Given the description of an element on the screen output the (x, y) to click on. 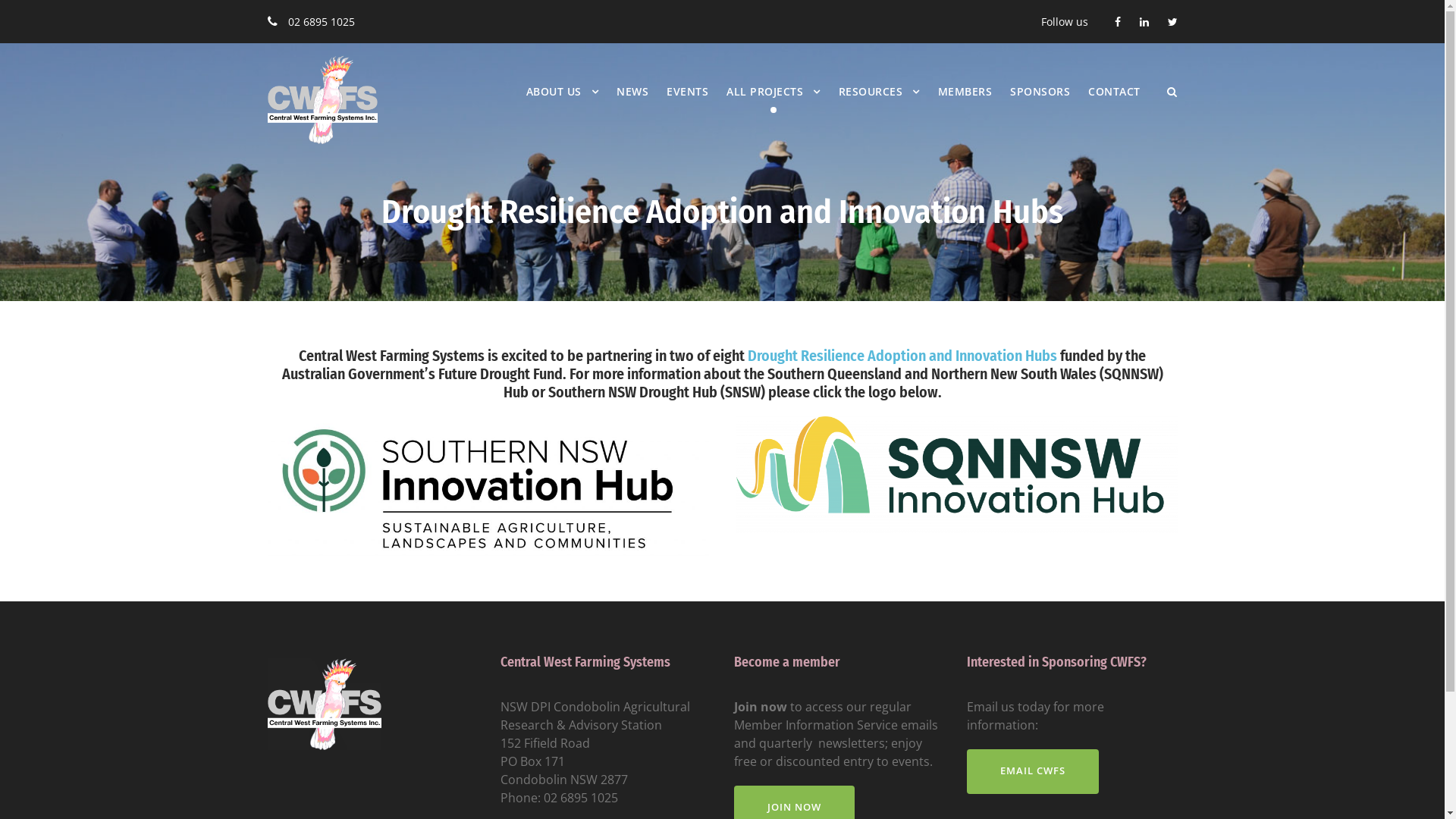
02 6895 1025 Element type: text (321, 21)
02 6895 1025 Element type: text (580, 797)
ALL PROJECTS Element type: text (773, 105)
Drought Resilience Adoption and Innovation Hubs Element type: text (903, 355)
linkedin Element type: hover (1143, 21)
ABOUT US Element type: text (562, 105)
EVENTS Element type: text (687, 105)
NEWS Element type: text (632, 105)
EMAIL CWFS Element type: text (1032, 771)
CWFS-colour-small-reverse Element type: hover (321, 99)
RESOURCES Element type: text (878, 105)
facebook Element type: hover (1117, 21)
CONTACT Element type: text (1114, 105)
Join now Element type: text (760, 706)
MEMBERS Element type: text (964, 105)
twitter Element type: hover (1172, 21)
SPONSORS Element type: text (1040, 105)
